Given the description of an element on the screen output the (x, y) to click on. 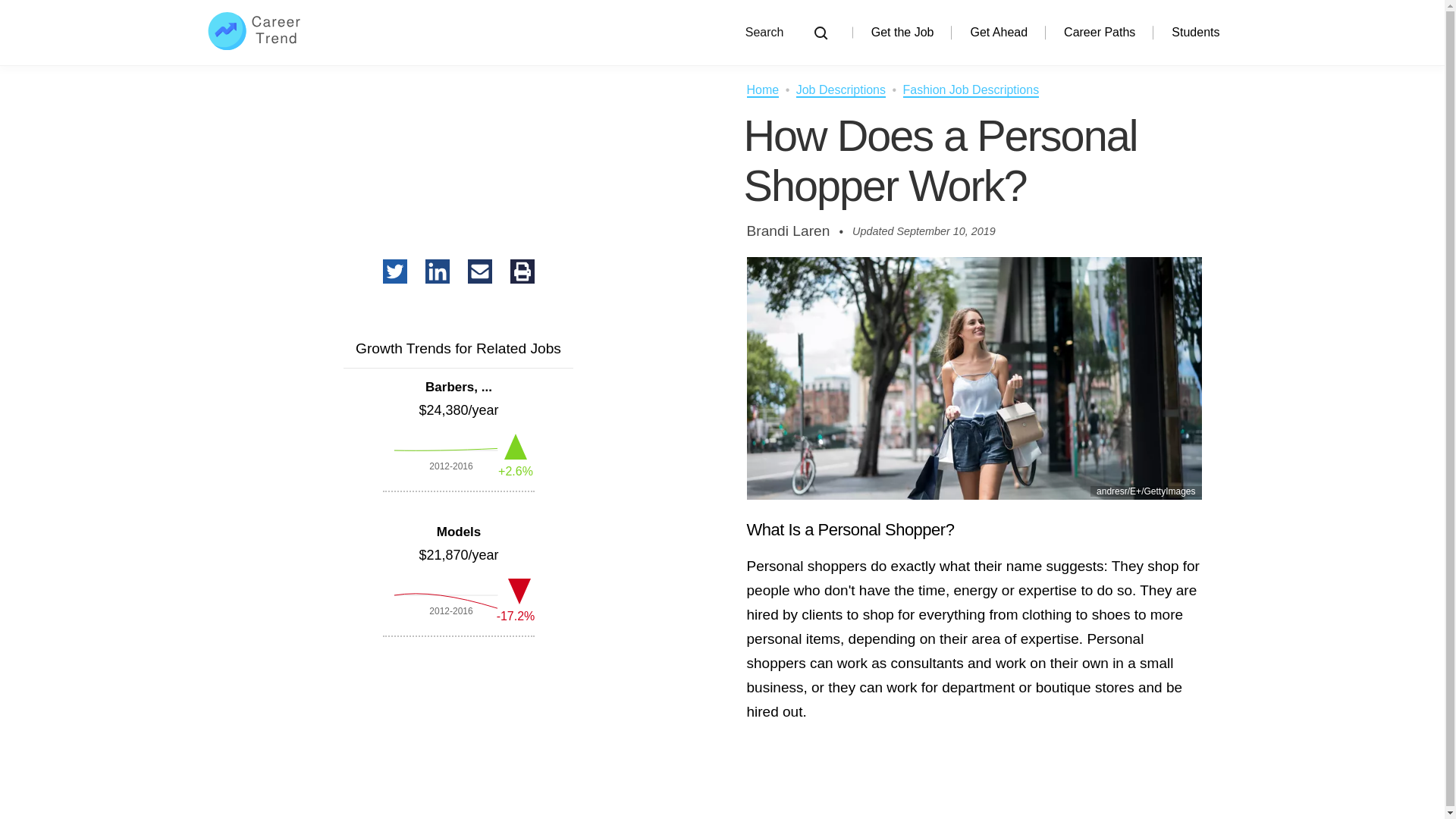
Get the Job (902, 31)
Get Ahead (998, 31)
Career Paths (1099, 31)
Students (1196, 31)
